Given the description of an element on the screen output the (x, y) to click on. 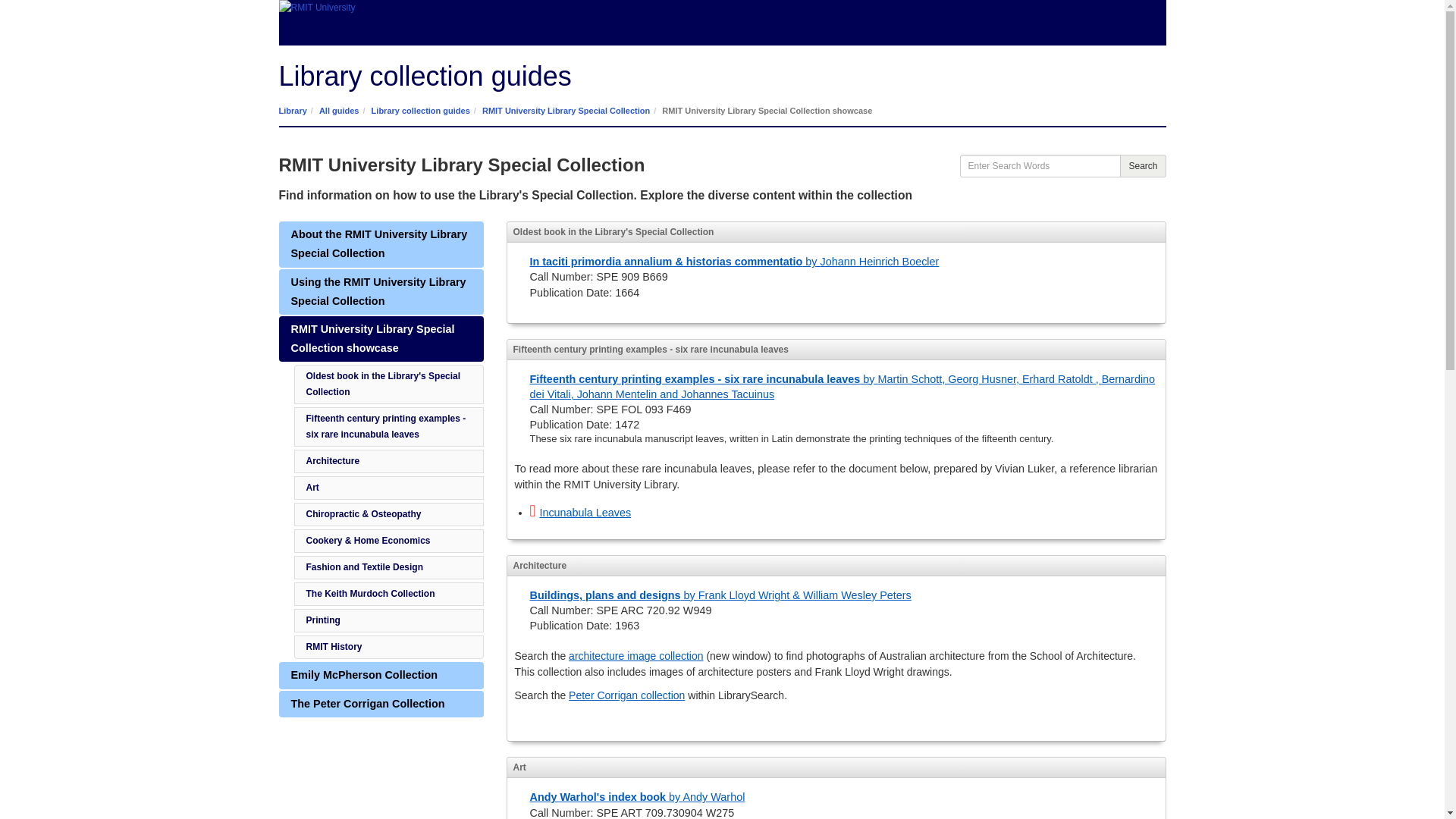
Andy Warhol's index book by Andy Warhol (636, 797)
RMIT University Library Special Collection (565, 110)
Emily McPherson Collection (381, 674)
Architecture (332, 460)
architecture image collection (636, 655)
Printing (322, 620)
Fashion and Textile Design (364, 566)
The Peter Corrigan Collection (381, 704)
RMIT University Library Special Collection showcase (381, 338)
RMIT History (333, 646)
